Given the description of an element on the screen output the (x, y) to click on. 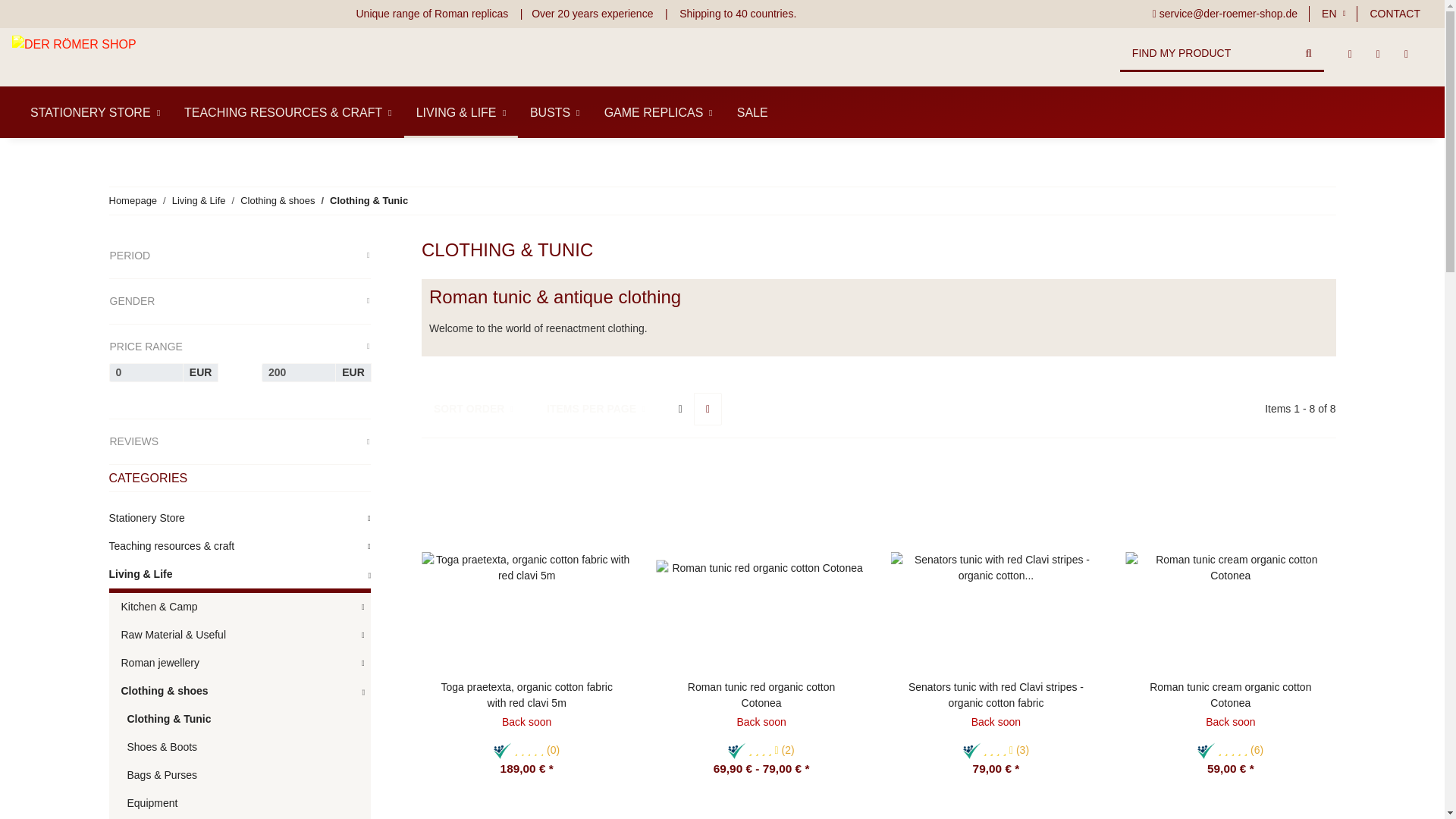
BUSTS (555, 112)
STATIONERY STORE (91, 112)
CONTACT (1394, 13)
EN (1332, 13)
Busts (555, 112)
STATIONERY STORE (91, 112)
GAME REPLICAS (658, 112)
Game replicas (658, 112)
Homepage (133, 200)
Sale (752, 112)
